Given the description of an element on the screen output the (x, y) to click on. 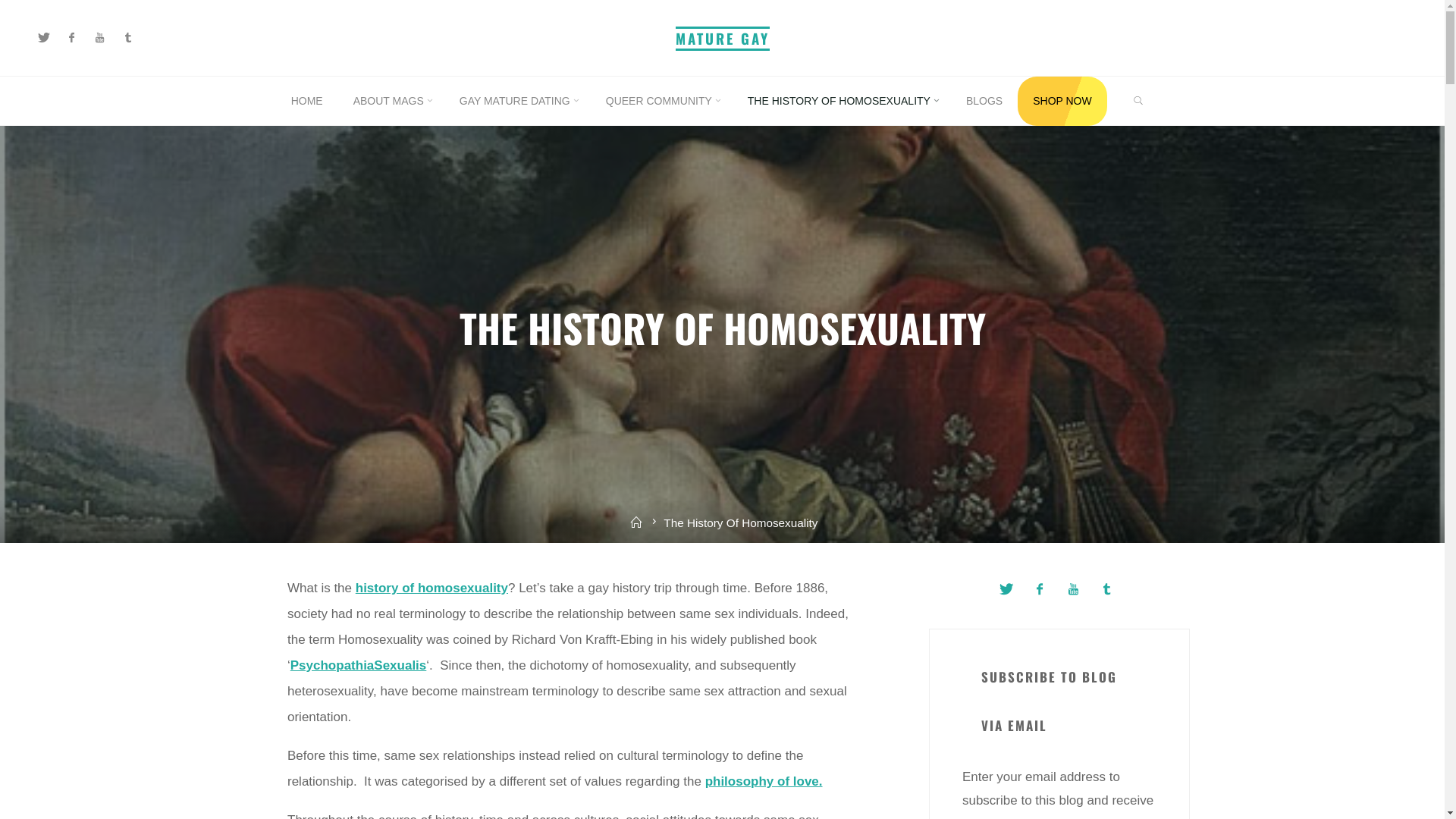
ABOUT MAGS Element type: text (391, 100)
QUEER COMMUNITY Element type: text (661, 100)
SEARCH Element type: text (1138, 101)
GAY MATURE DATING Element type: text (517, 100)
Youtube Element type: hover (99, 38)
Facebook Element type: hover (71, 38)
MATURE GAY Element type: text (721, 37)
history of homosexuality Element type: text (431, 587)
Youtube Element type: hover (1073, 588)
THE HISTORY OF HOMOSEXUALITY Element type: text (841, 100)
BLOGS Element type: text (983, 100)
Twitter Element type: hover (1005, 588)
Twitter Element type: hover (43, 38)
PsychopathiaSexualis Element type: text (358, 665)
Facebook Element type: hover (1040, 588)
Tumblr Element type: hover (1106, 588)
SHOP NOW Element type: text (1062, 100)
HOME Element type: text (307, 100)
Tumblr Element type: hover (127, 38)
philosophy of love. Element type: text (763, 780)
Home Element type: text (636, 522)
